Given the description of an element on the screen output the (x, y) to click on. 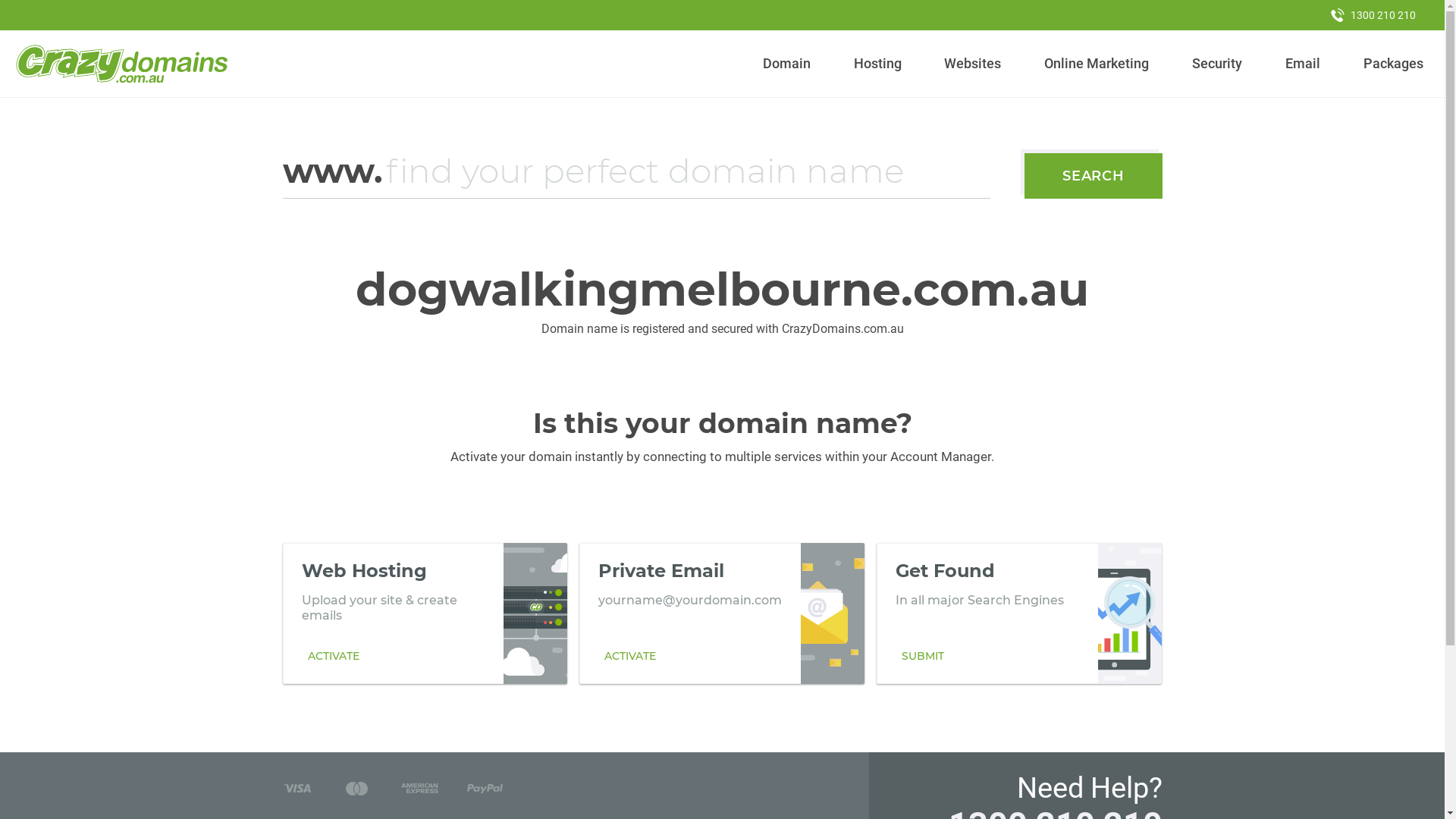
Online Marketing Element type: text (1096, 63)
Web Hosting
Upload your site & create emails
ACTIVATE Element type: text (424, 613)
Email Element type: text (1302, 63)
Websites Element type: text (972, 63)
Hosting Element type: text (877, 63)
Security Element type: text (1217, 63)
Private Email
yourname@yourdomain.com
ACTIVATE Element type: text (721, 613)
1300 210 210 Element type: text (1373, 15)
Domain Element type: text (786, 63)
Packages Element type: text (1392, 63)
SEARCH Element type: text (1092, 175)
Get Found
In all major Search Engines
SUBMIT Element type: text (1018, 613)
